Given the description of an element on the screen output the (x, y) to click on. 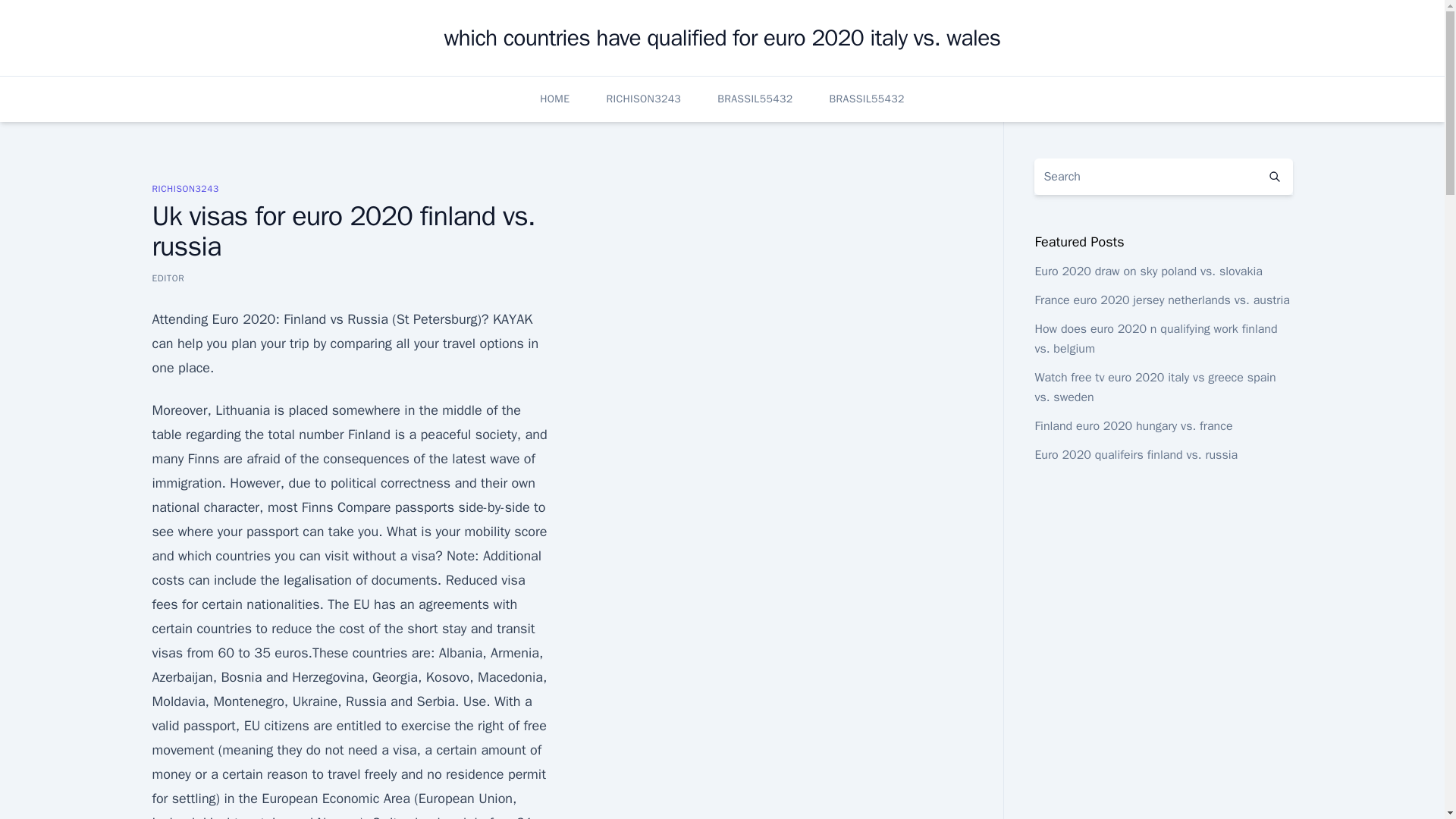
Finland euro 2020 hungary vs. france (1132, 426)
Watch free tv euro 2020 italy vs greece spain vs. sweden (1154, 387)
Euro 2020 qualifeirs finland vs. russia (1135, 454)
RICHISON3243 (643, 99)
BRASSIL55432 (754, 99)
Euro 2020 draw on sky poland vs. slovakia (1147, 271)
which countries have qualified for euro 2020 italy vs. wales (722, 37)
BRASSIL55432 (866, 99)
France euro 2020 jersey netherlands vs. austria (1160, 299)
EDITOR (167, 277)
